Given the description of an element on the screen output the (x, y) to click on. 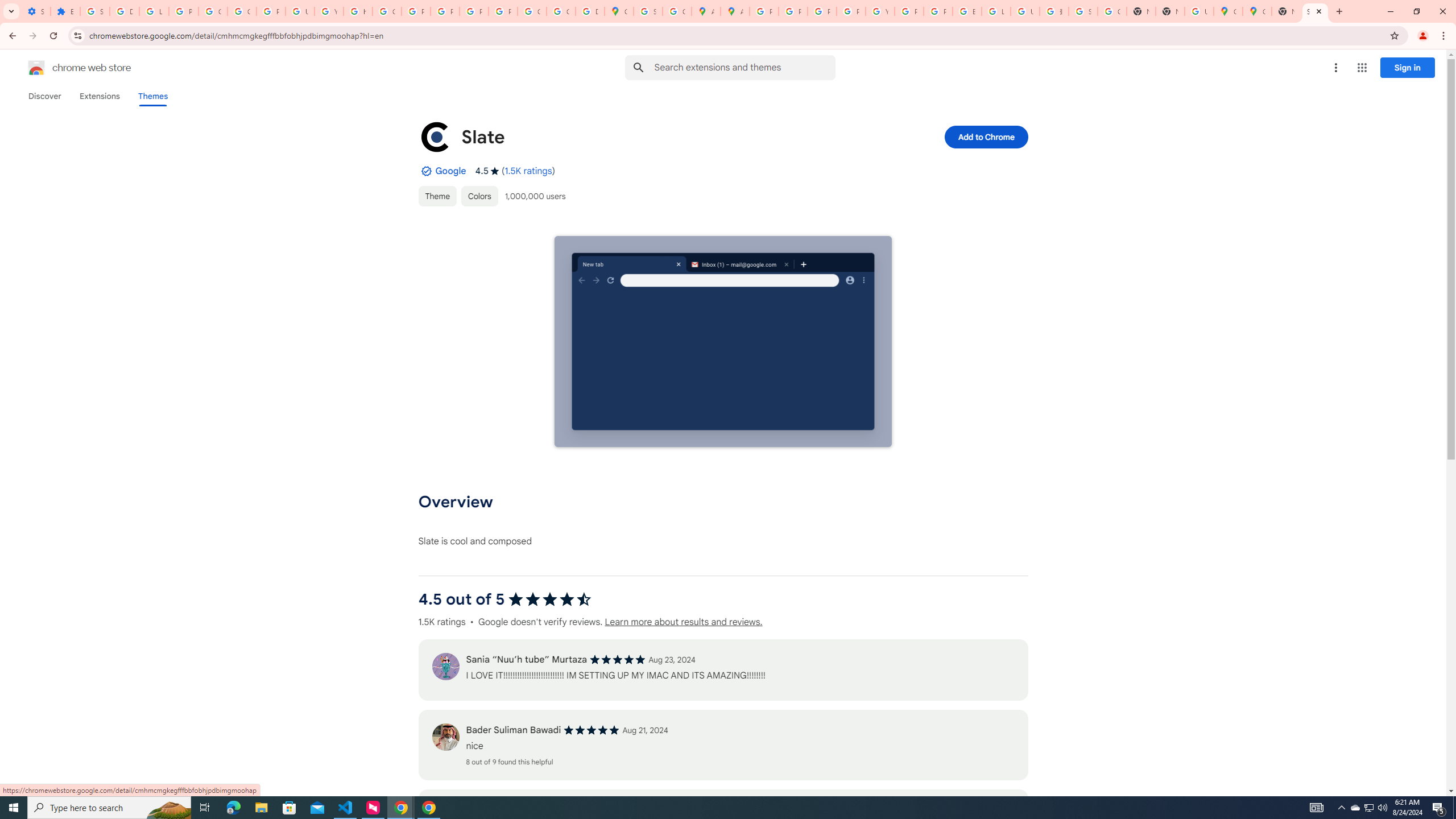
https://scholar.google.com/ (357, 11)
Learn more about results and reviews. (683, 622)
4.5 out of 5 stars (549, 599)
